Given the description of an element on the screen output the (x, y) to click on. 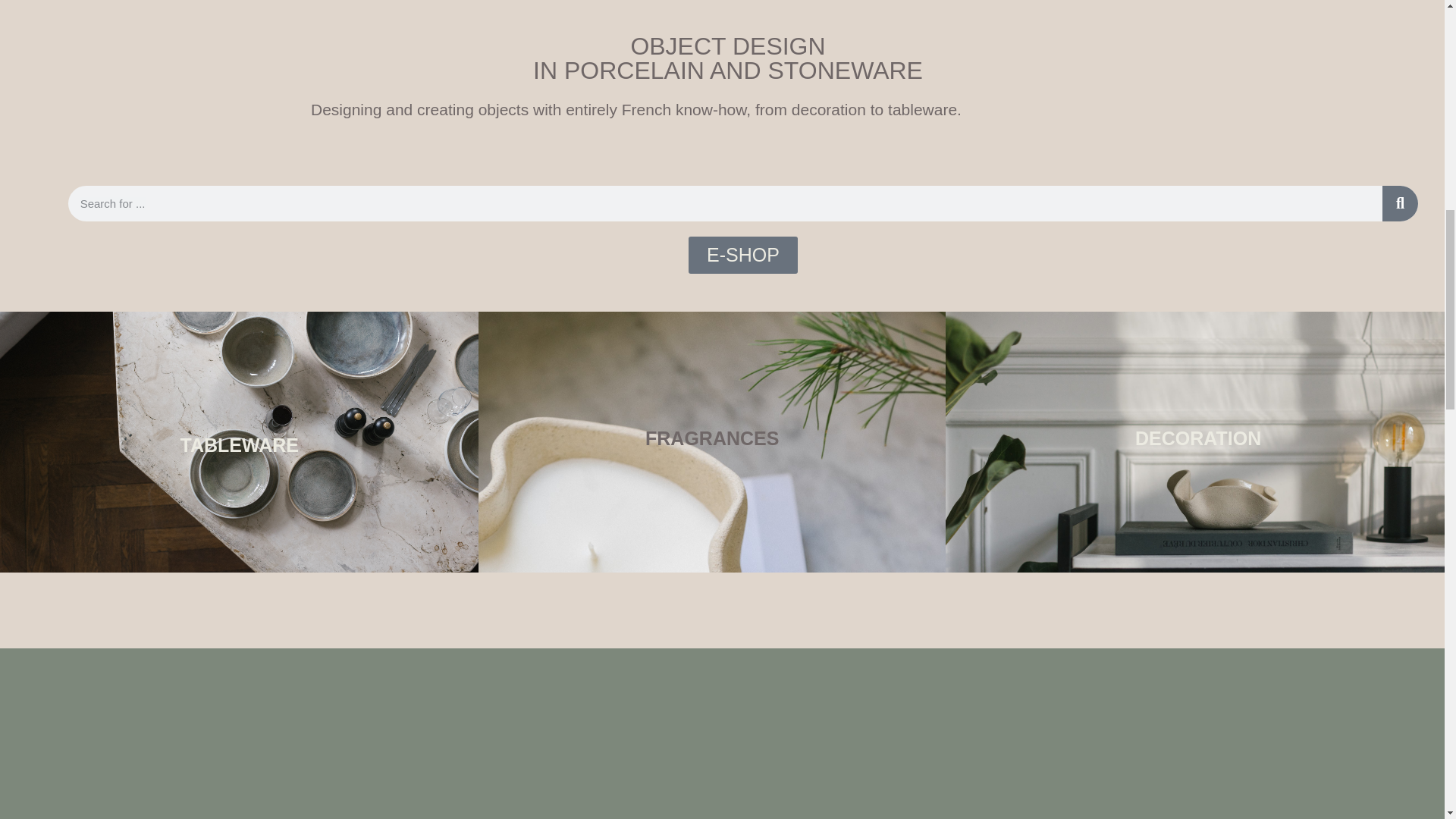
FRAGRANCES (711, 437)
E-SHOP (742, 254)
TABLEWARE (238, 444)
